Given the description of an element on the screen output the (x, y) to click on. 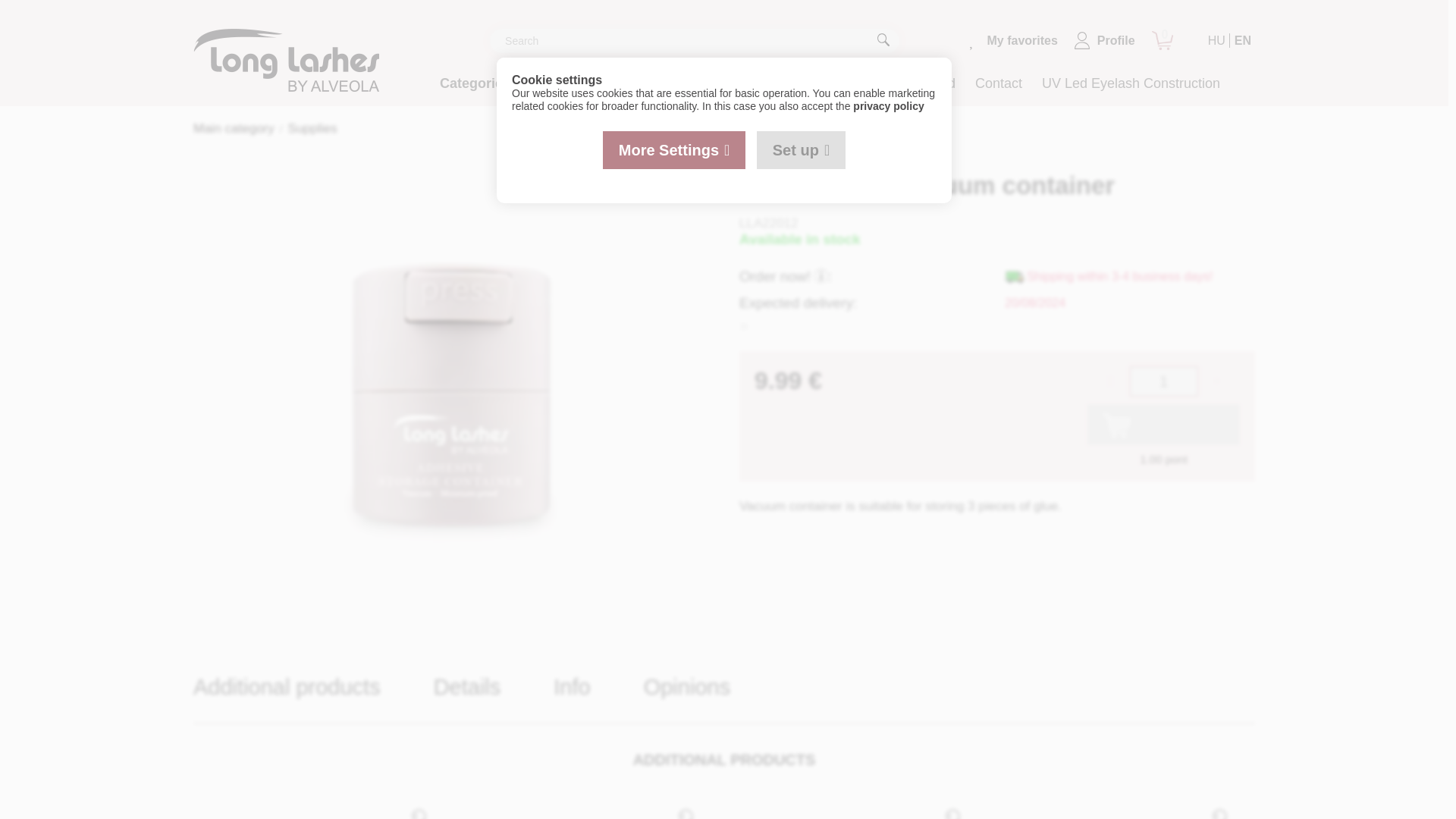
Customer loyalty program (670, 83)
SALE (555, 83)
Blog (782, 83)
Long Lashes the brand (885, 83)
Categories (478, 83)
English (1242, 40)
UV Led Eyelash Construction (1131, 83)
Profile (1103, 40)
